Given the description of an element on the screen output the (x, y) to click on. 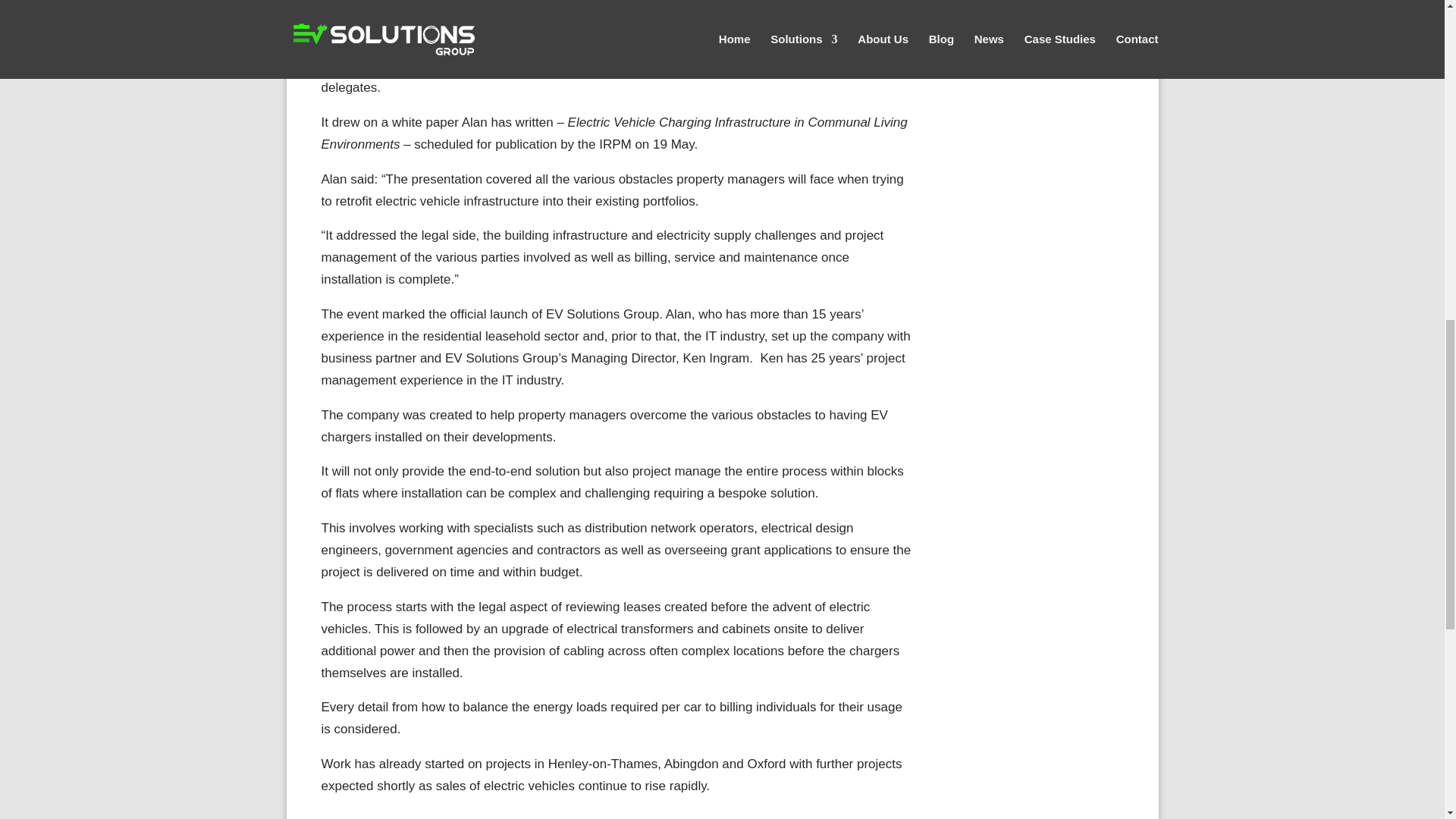
EV Solutions Group (599, 43)
